Given the description of an element on the screen output the (x, y) to click on. 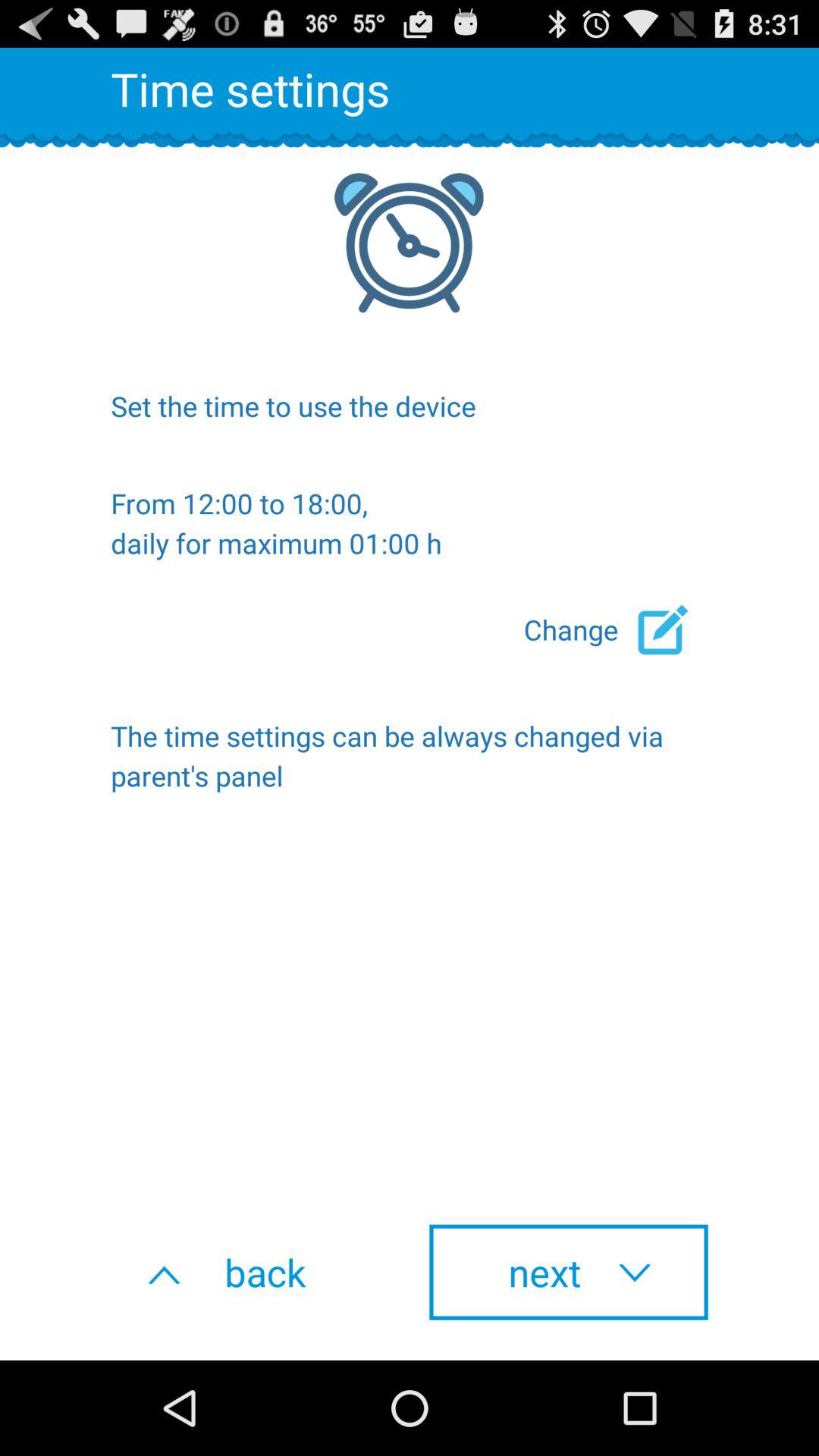
tap the icon next to the back button (568, 1272)
